Given the description of an element on the screen output the (x, y) to click on. 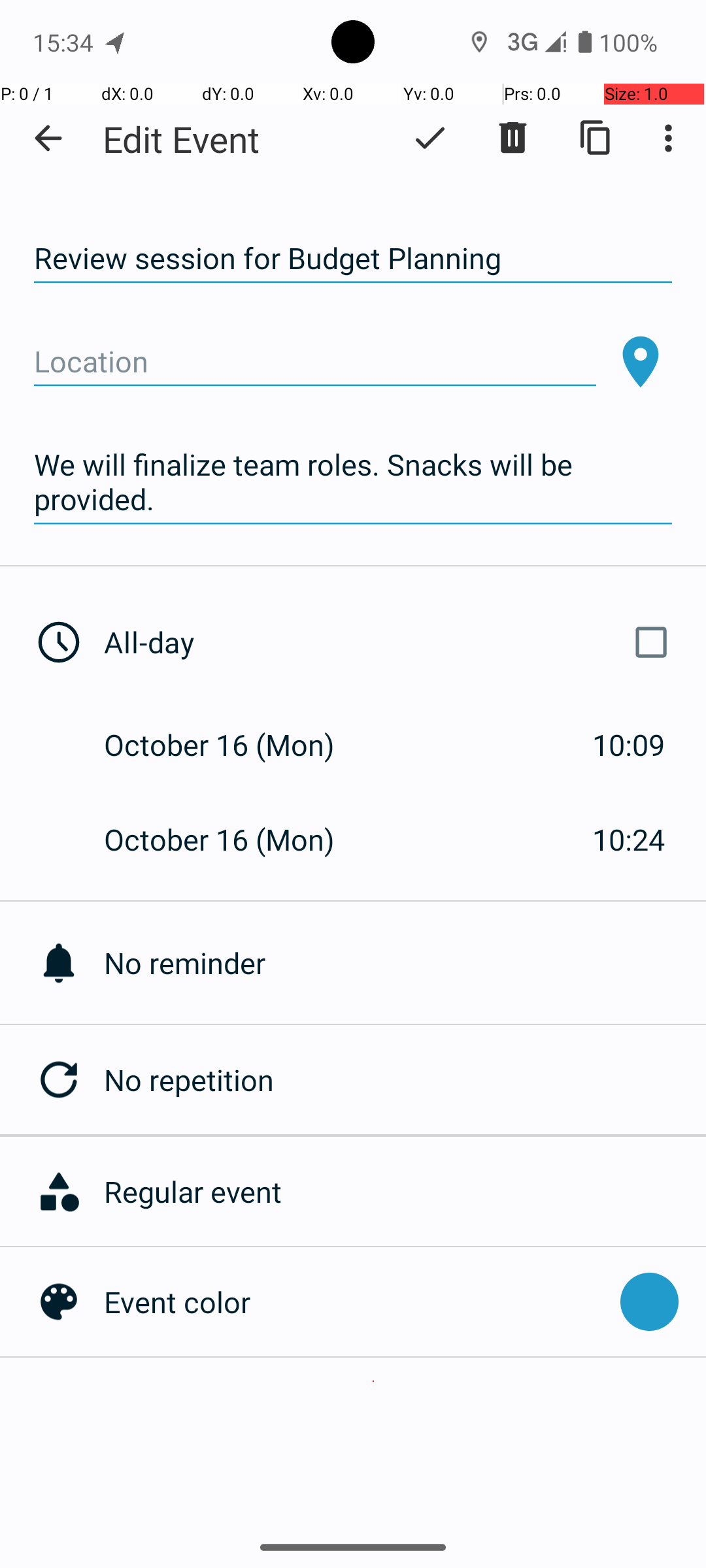
Review session for Budget Planning Element type: android.widget.EditText (352, 258)
We will finalize team roles. Snacks will be provided. Element type: android.widget.EditText (352, 482)
October 16 (Mon) Element type: android.widget.TextView (232, 744)
10:09 Element type: android.widget.TextView (628, 744)
10:24 Element type: android.widget.TextView (628, 838)
